Given the description of an element on the screen output the (x, y) to click on. 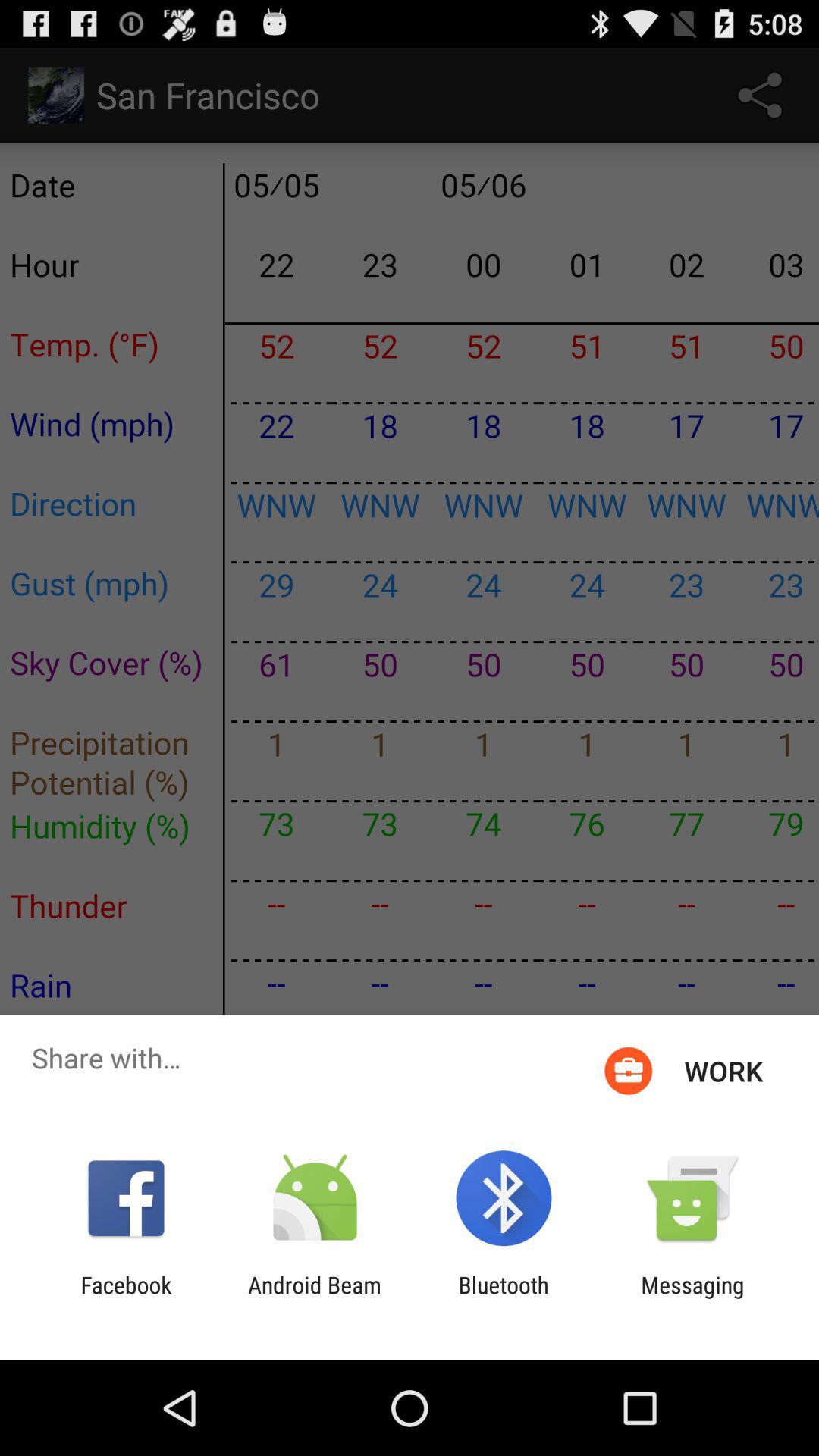
click bluetooth icon (503, 1298)
